Given the description of an element on the screen output the (x, y) to click on. 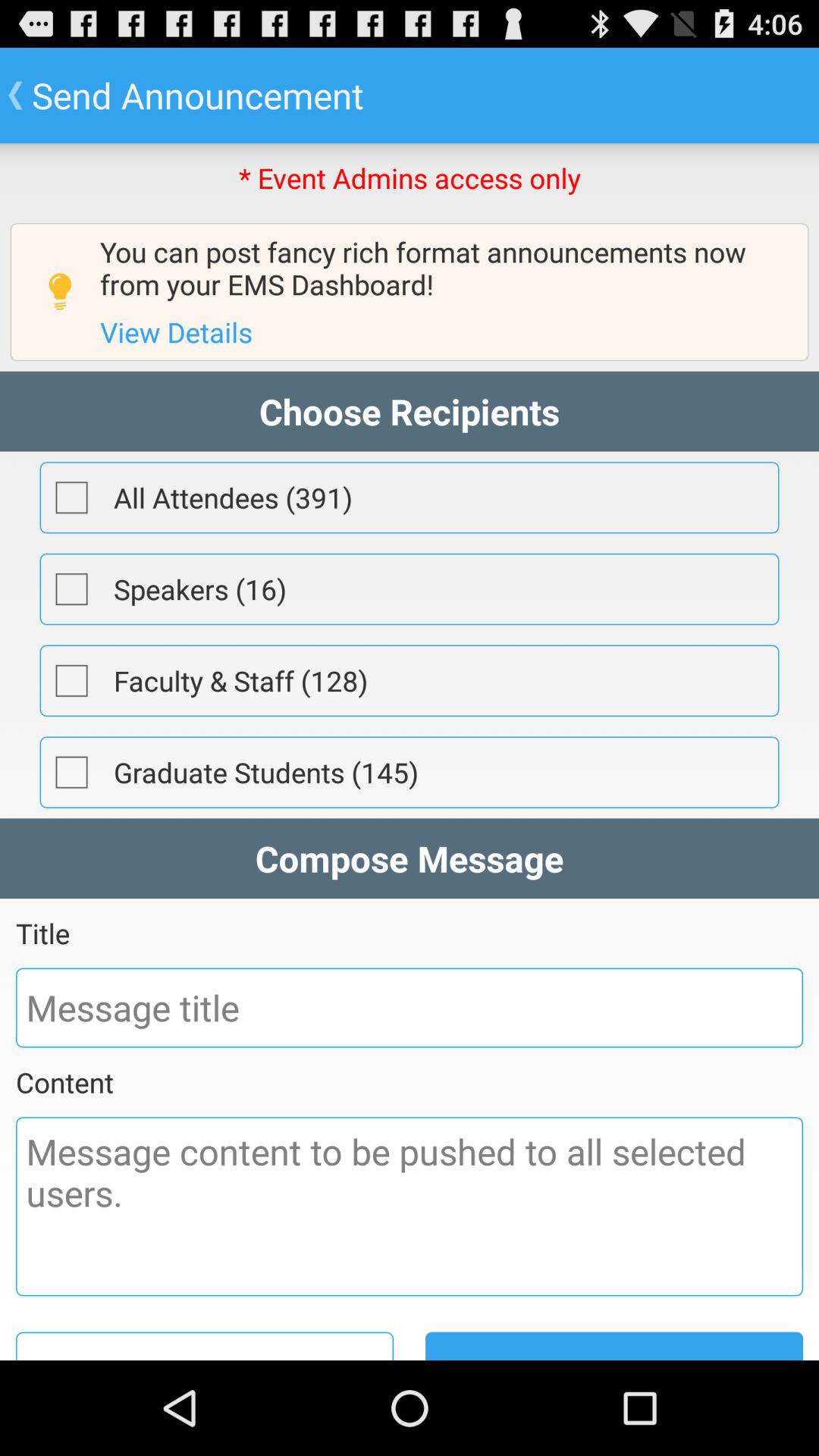
select the item above the choose recipients item (176, 331)
